Given the description of an element on the screen output the (x, y) to click on. 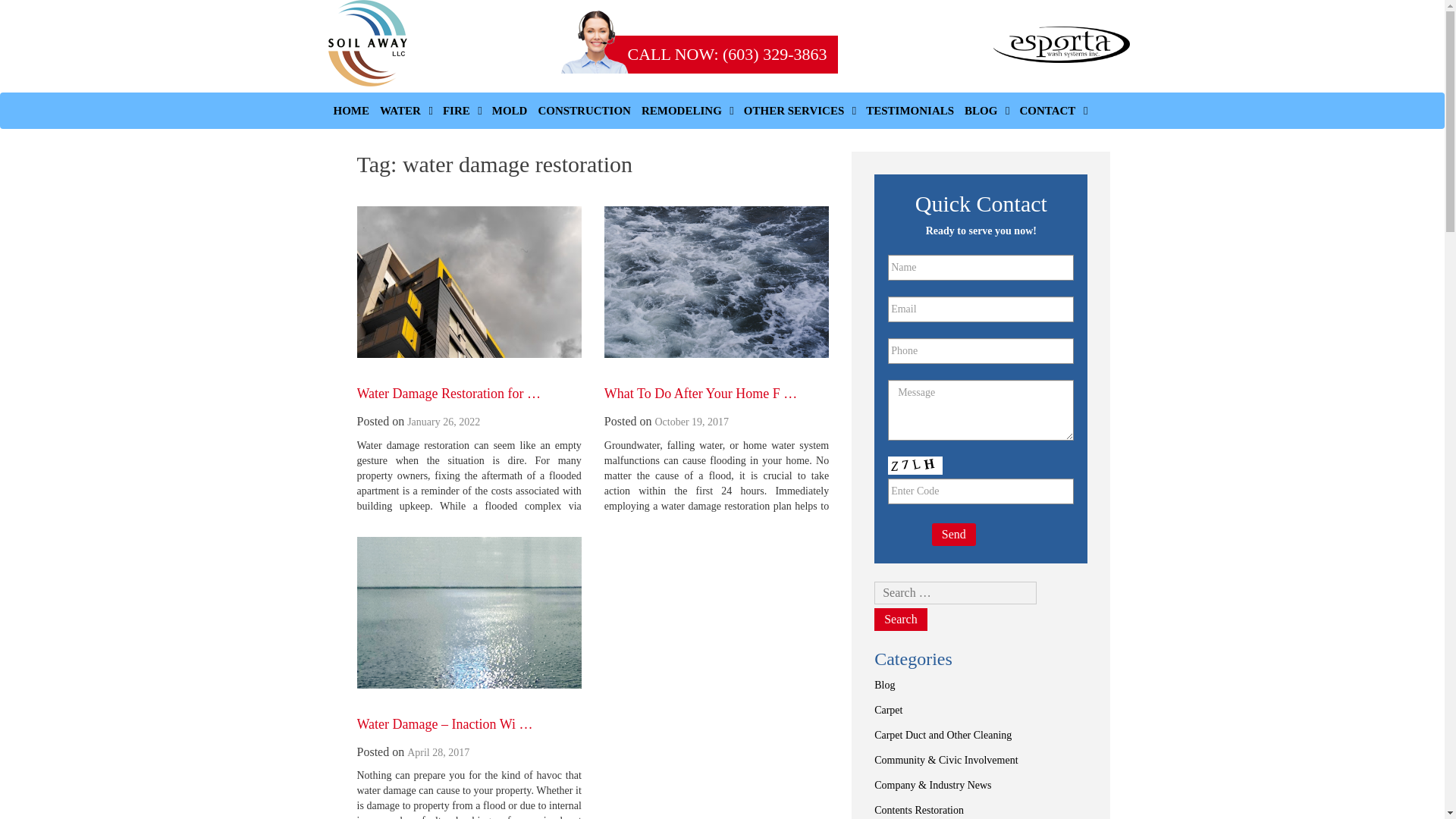
Search (901, 619)
MOLD (509, 110)
OTHER SERVICES (799, 110)
Water Damage Restoration for Multi-Floor Apartments (448, 393)
CONTACT (1052, 110)
HOME (350, 110)
Send (953, 534)
January 26, 2022 (443, 421)
REMODELING (687, 110)
Search (901, 619)
TESTIMONIALS (909, 110)
CONSTRUCTION (584, 110)
WATER (406, 110)
BLOG (986, 110)
What To Do After Your Home Floods (700, 393)
